Given the description of an element on the screen output the (x, y) to click on. 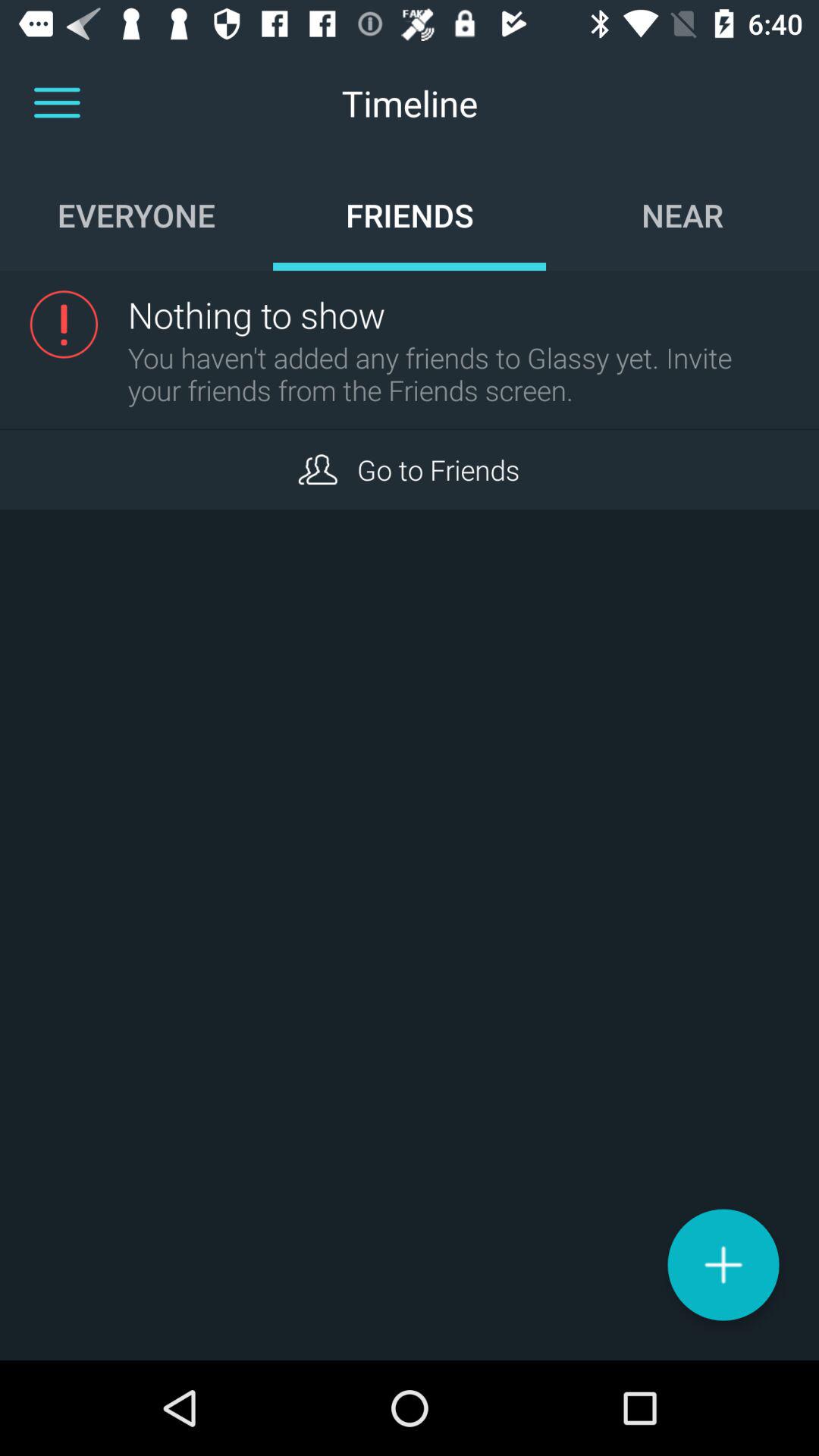
post to timeline (723, 1264)
